Given the description of an element on the screen output the (x, y) to click on. 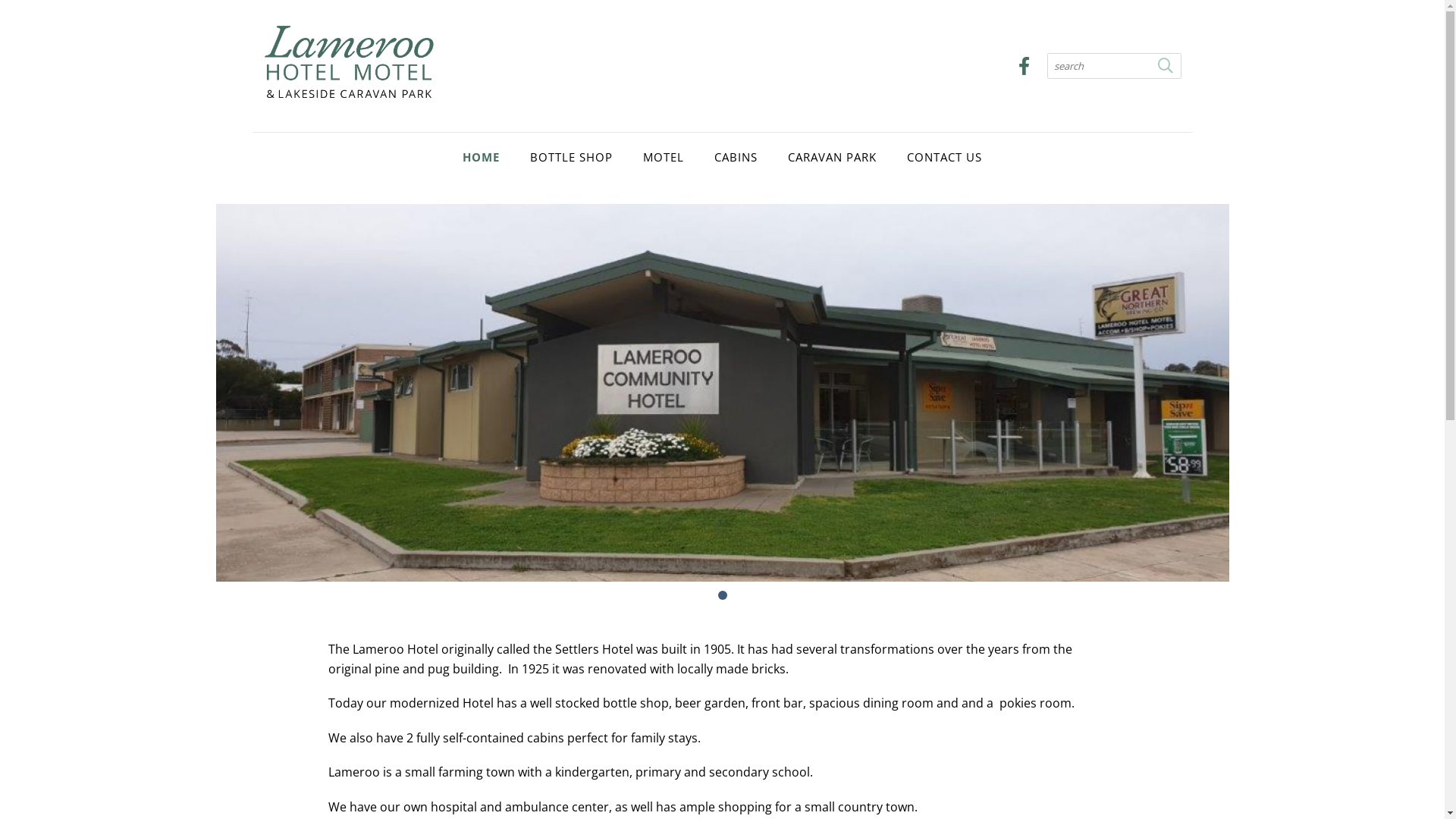
CONTACT US Element type: text (944, 156)
CARAVAN PARK Element type: text (831, 156)
HOME Element type: text (480, 156)
1 Element type: text (721, 594)
Search Element type: hover (1164, 65)
CABINS Element type: text (735, 156)
MOTEL Element type: text (663, 156)
BOTTLE SHOP Element type: text (570, 156)
